Given the description of an element on the screen output the (x, y) to click on. 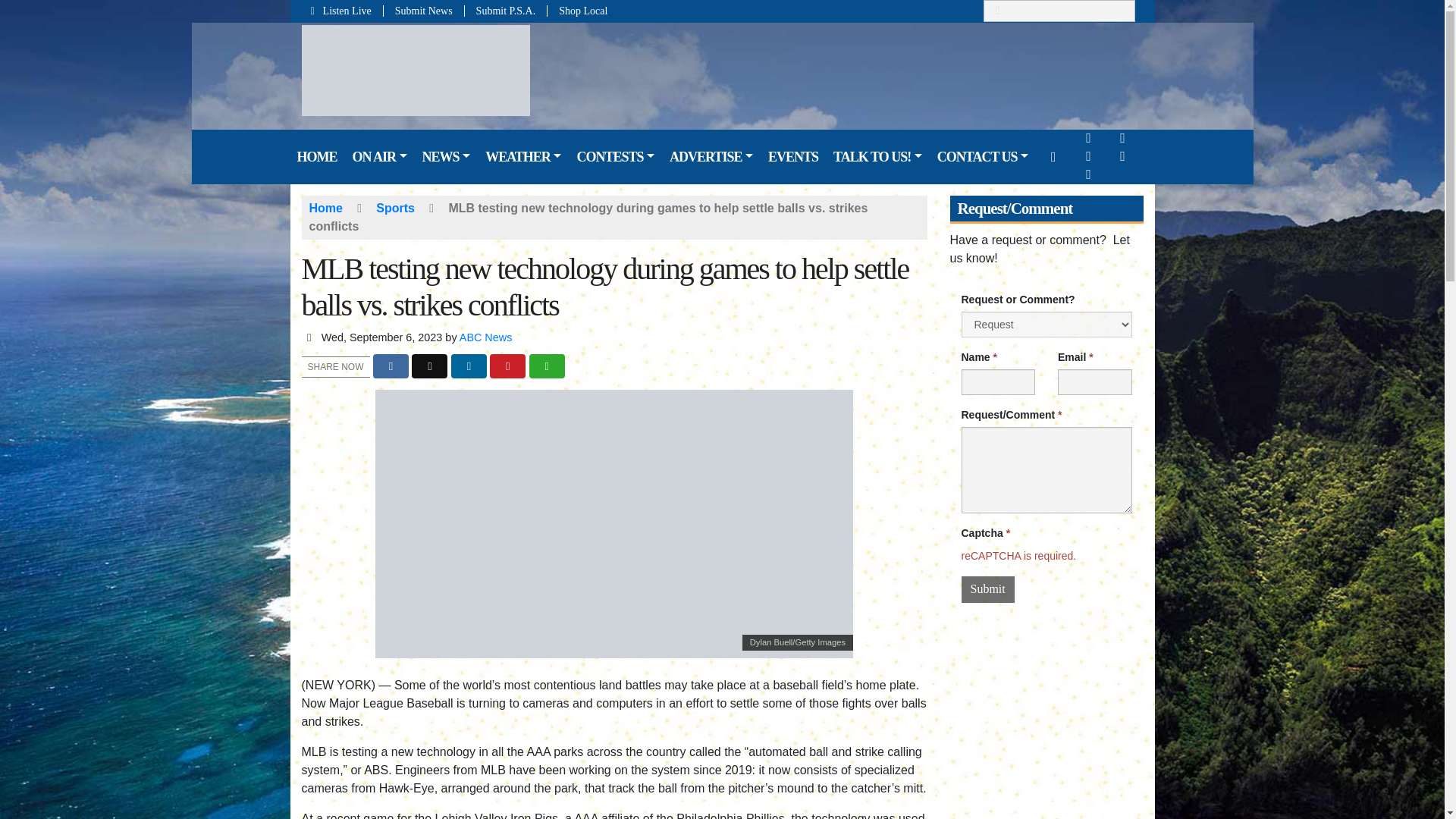
Search for: (1059, 11)
